Given the description of an element on the screen output the (x, y) to click on. 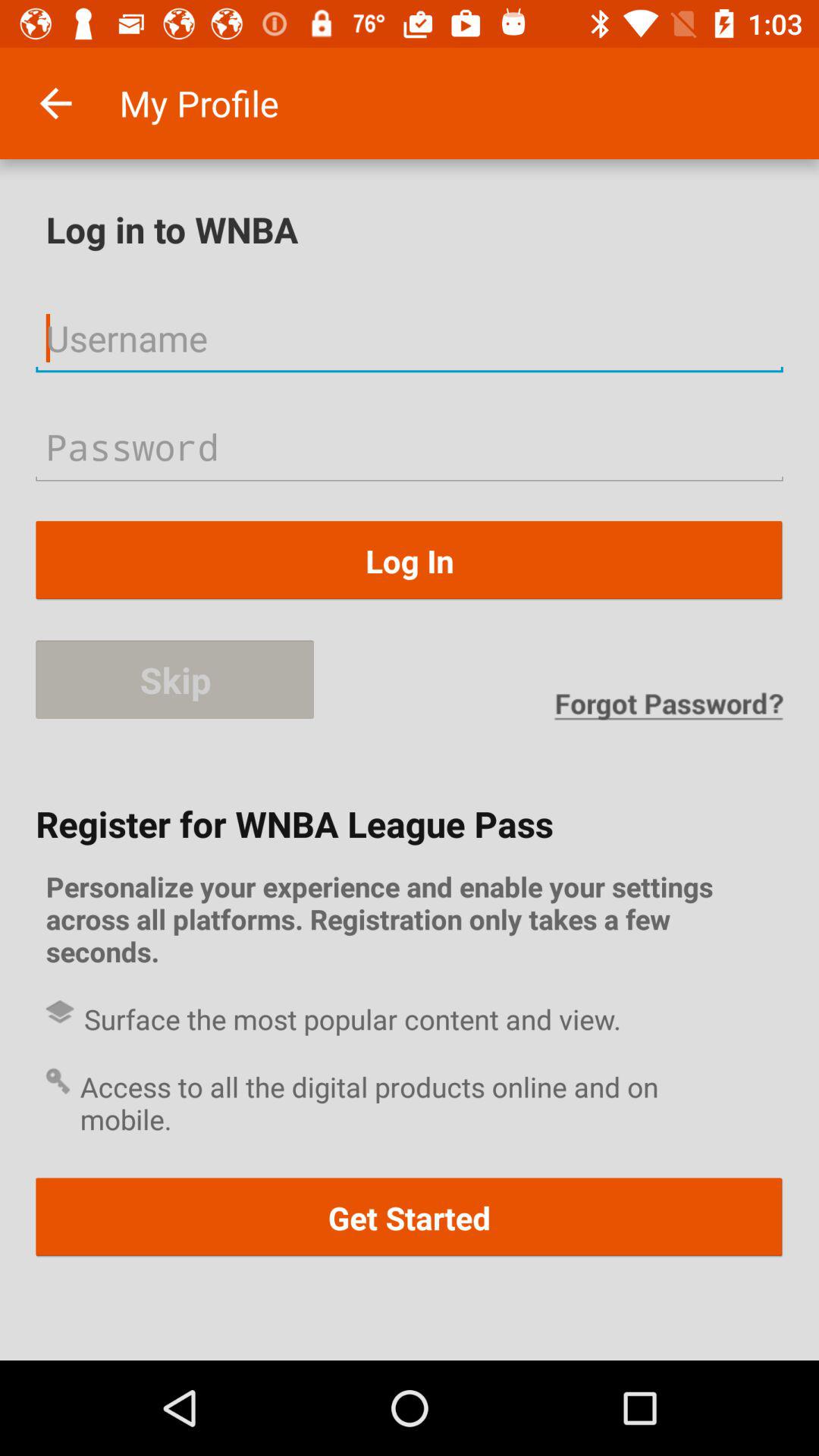
tap icon next to my profile (55, 103)
